Given the description of an element on the screen output the (x, y) to click on. 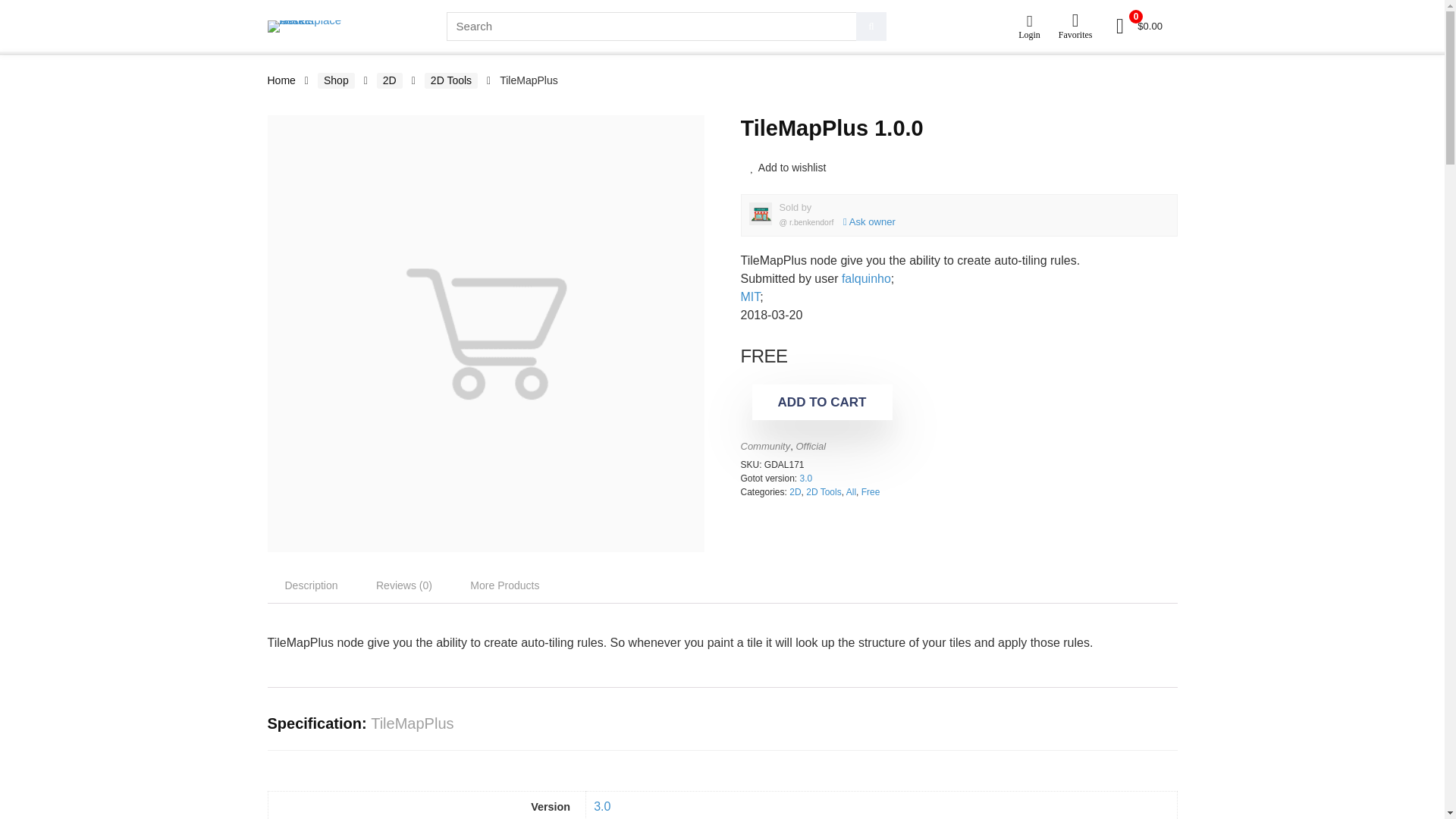
All (850, 491)
Community (764, 446)
2D Tools (823, 491)
Free (870, 491)
3.0 (602, 806)
Home (280, 80)
ADD TO CART (822, 402)
Official (809, 446)
falquinho (866, 278)
Ask owner (865, 221)
